Given the description of an element on the screen output the (x, y) to click on. 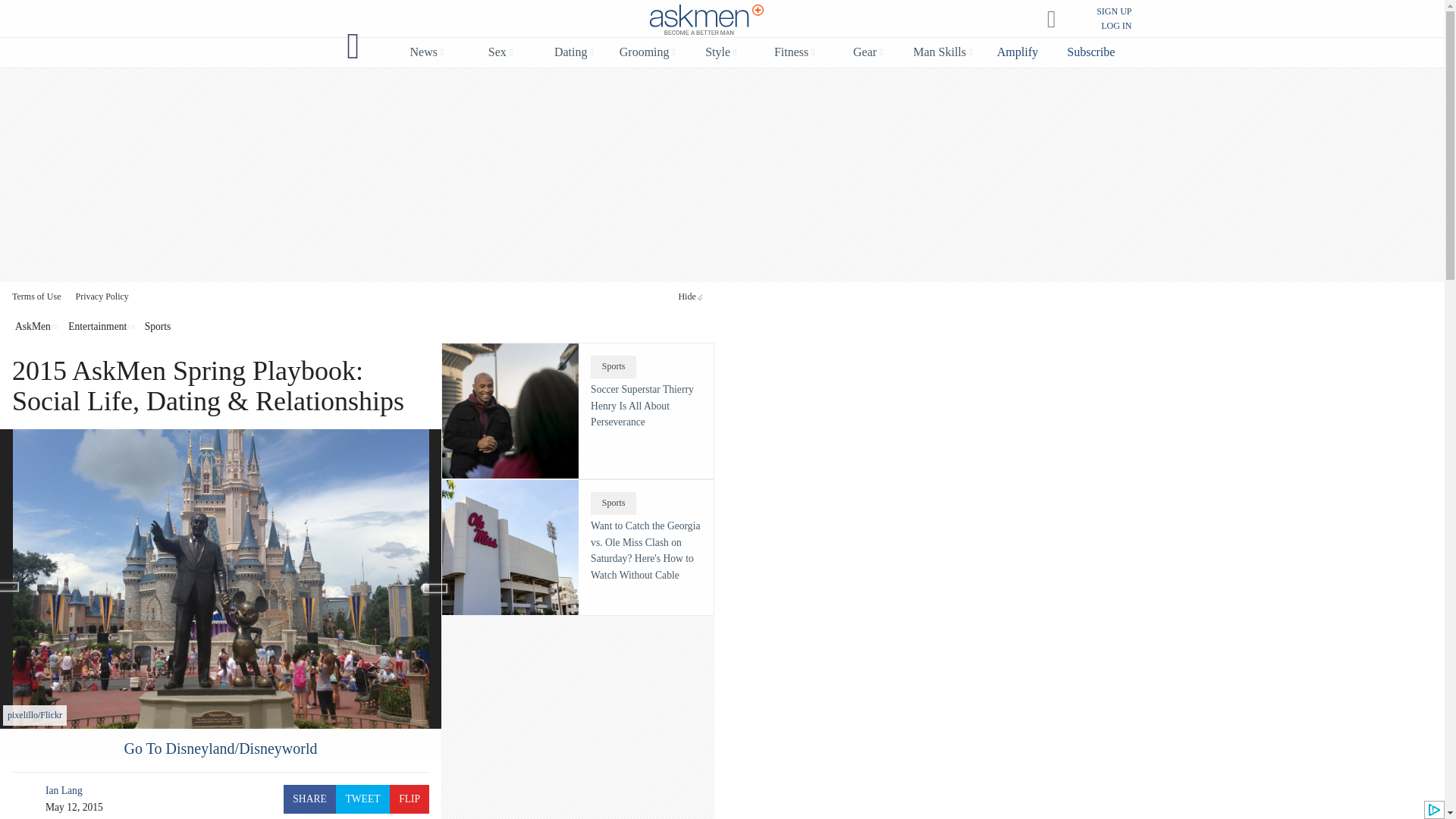
LOG IN (1115, 25)
SIGN UP (1113, 11)
AskMen (706, 20)
GuyQ (352, 45)
